Given the description of an element on the screen output the (x, y) to click on. 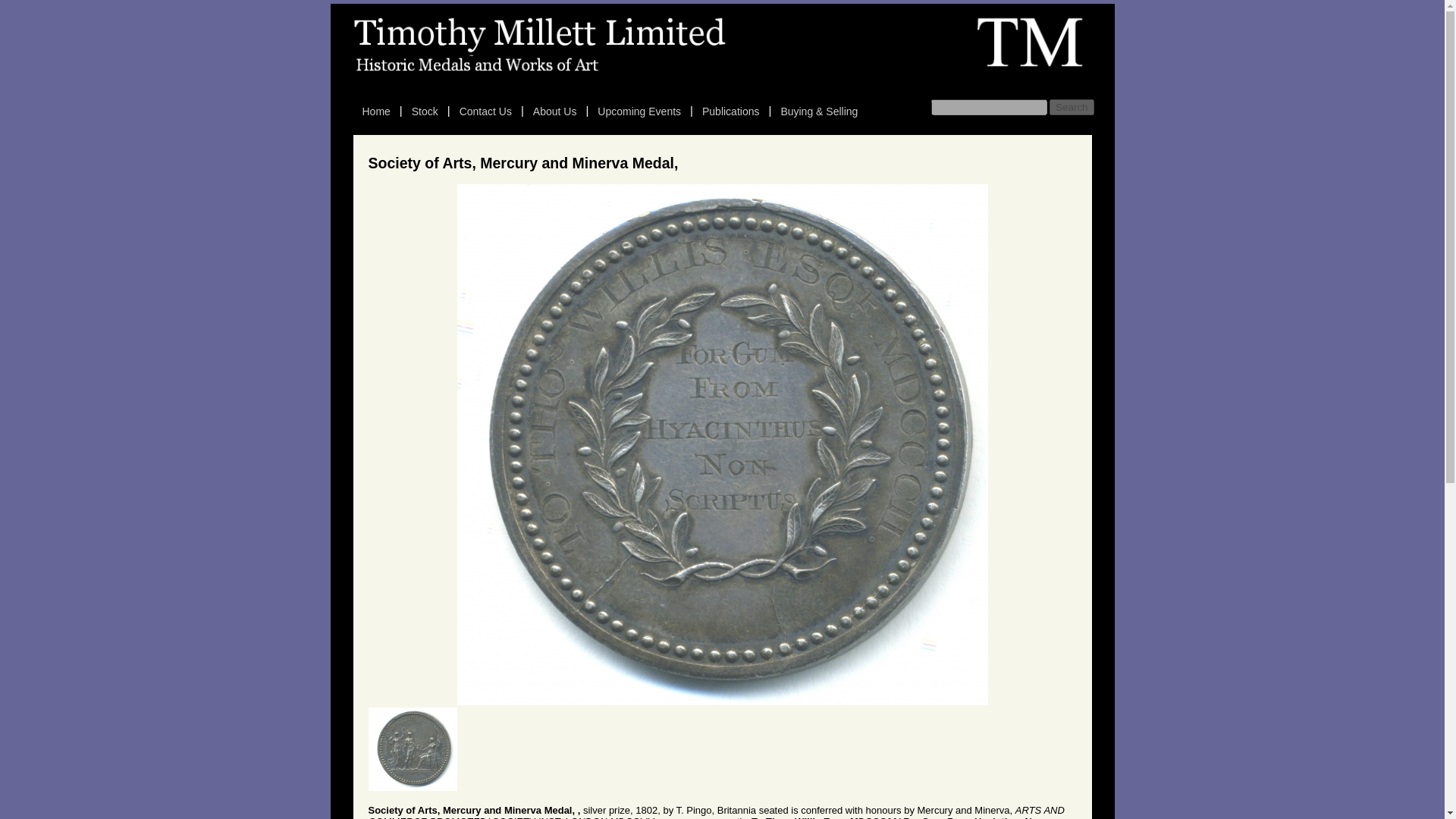
Upcoming Events (639, 111)
Stock (424, 111)
Home (375, 111)
Contact Us (485, 111)
Publications (730, 111)
About Us (555, 111)
Search (1071, 107)
Search (1071, 107)
